Given the description of an element on the screen output the (x, y) to click on. 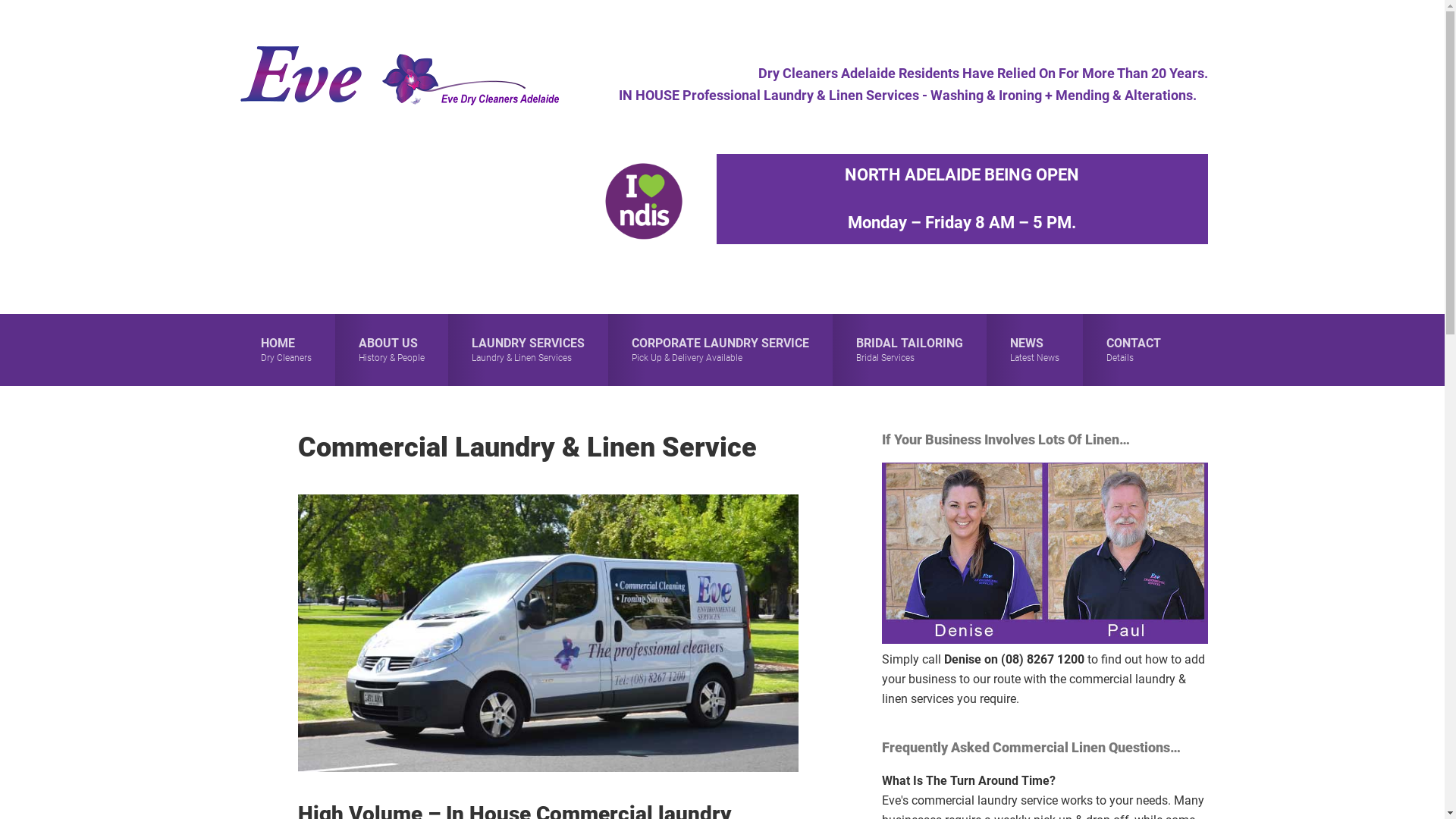
BRIDAL TAILORING
Bridal Services Element type: text (909, 349)
Skip to primary navigation Element type: text (0, 0)
ABOUT US
History & People Element type: text (391, 349)
CONTACT
Details Element type: text (1133, 349)
LAUNDRY SERVICES
Laundry & Linen Services Element type: text (527, 349)
NEWS
Latest News Element type: text (1033, 349)
HOME
Dry Cleaners Element type: text (285, 349)
CORPORATE LAUNDRY SERVICE
Pick Up & Delivery Available Element type: text (720, 349)
